Given the description of an element on the screen output the (x, y) to click on. 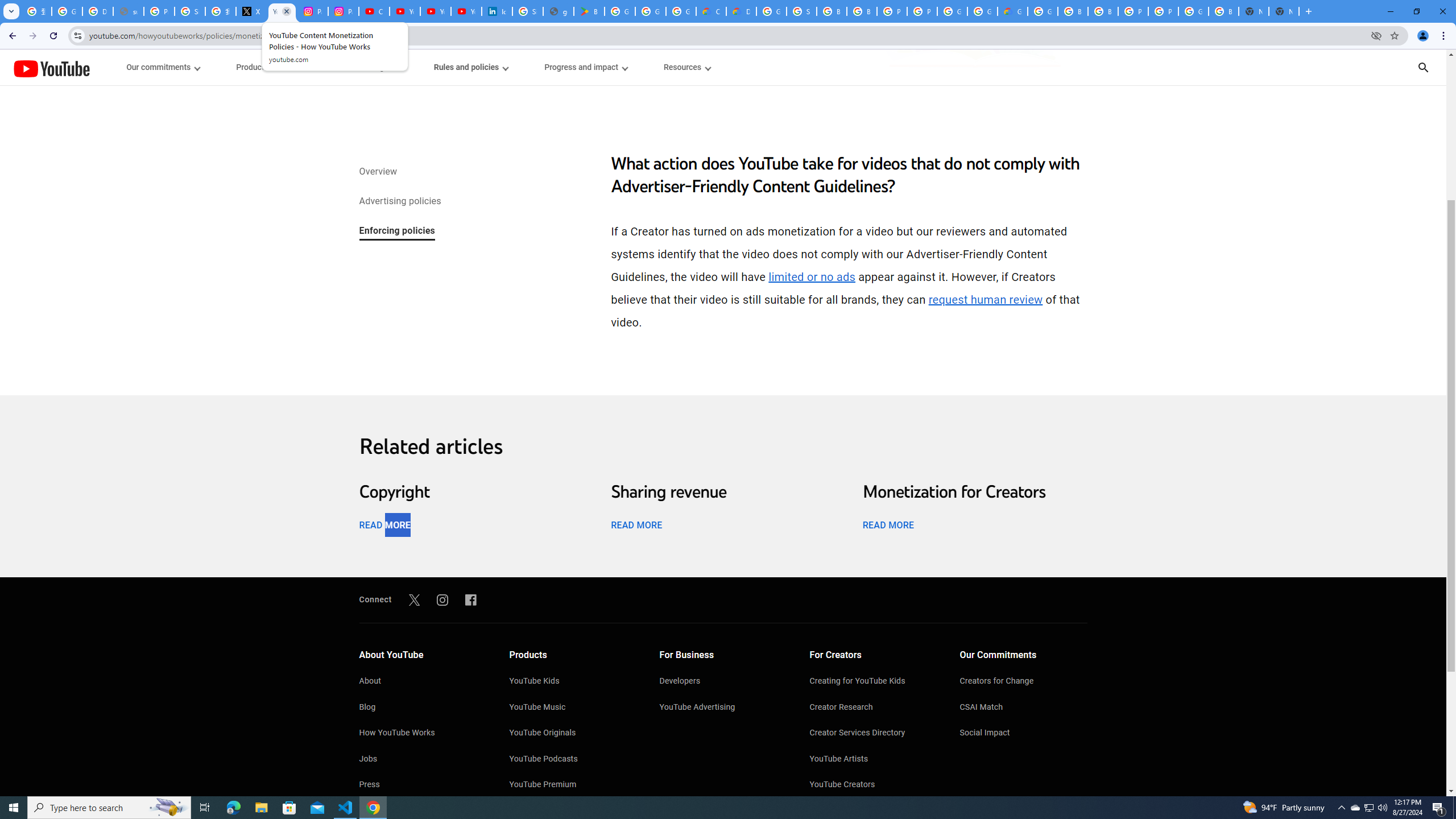
User settings menupopup (368, 67)
Sign in - Google Accounts (801, 11)
Creating for YouTube Kids (873, 682)
Instagram (442, 599)
New Tab (1283, 11)
Press (422, 785)
CSAI Match (1023, 708)
Twitter (413, 599)
YouTube Creators (873, 785)
JUMP TO CONTENT (118, 67)
YouTube Podcasts (573, 759)
